Given the description of an element on the screen output the (x, y) to click on. 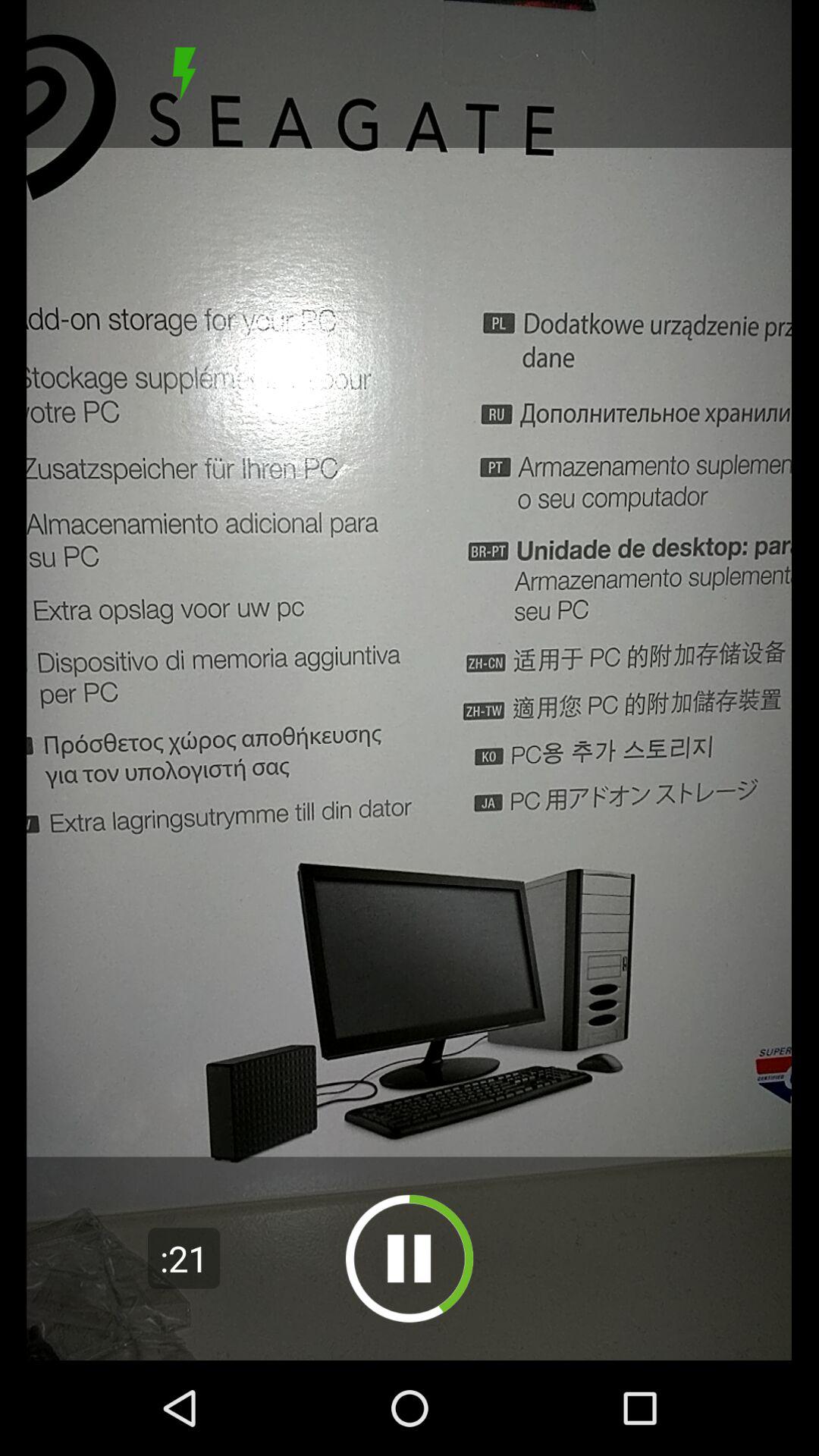
switch autoplay option (409, 1258)
